Given the description of an element on the screen output the (x, y) to click on. 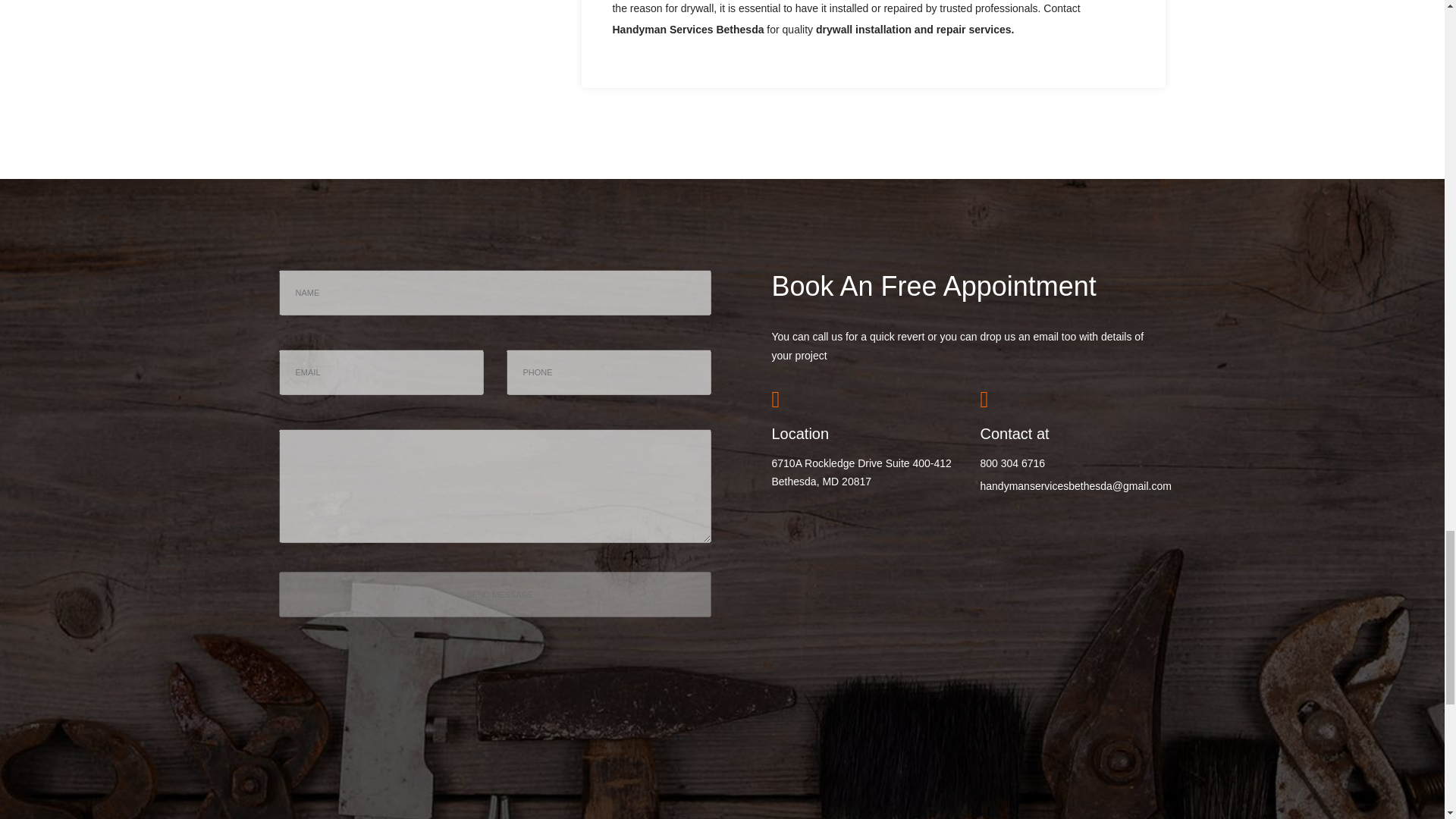
Send message (495, 594)
